Given the description of an element on the screen output the (x, y) to click on. 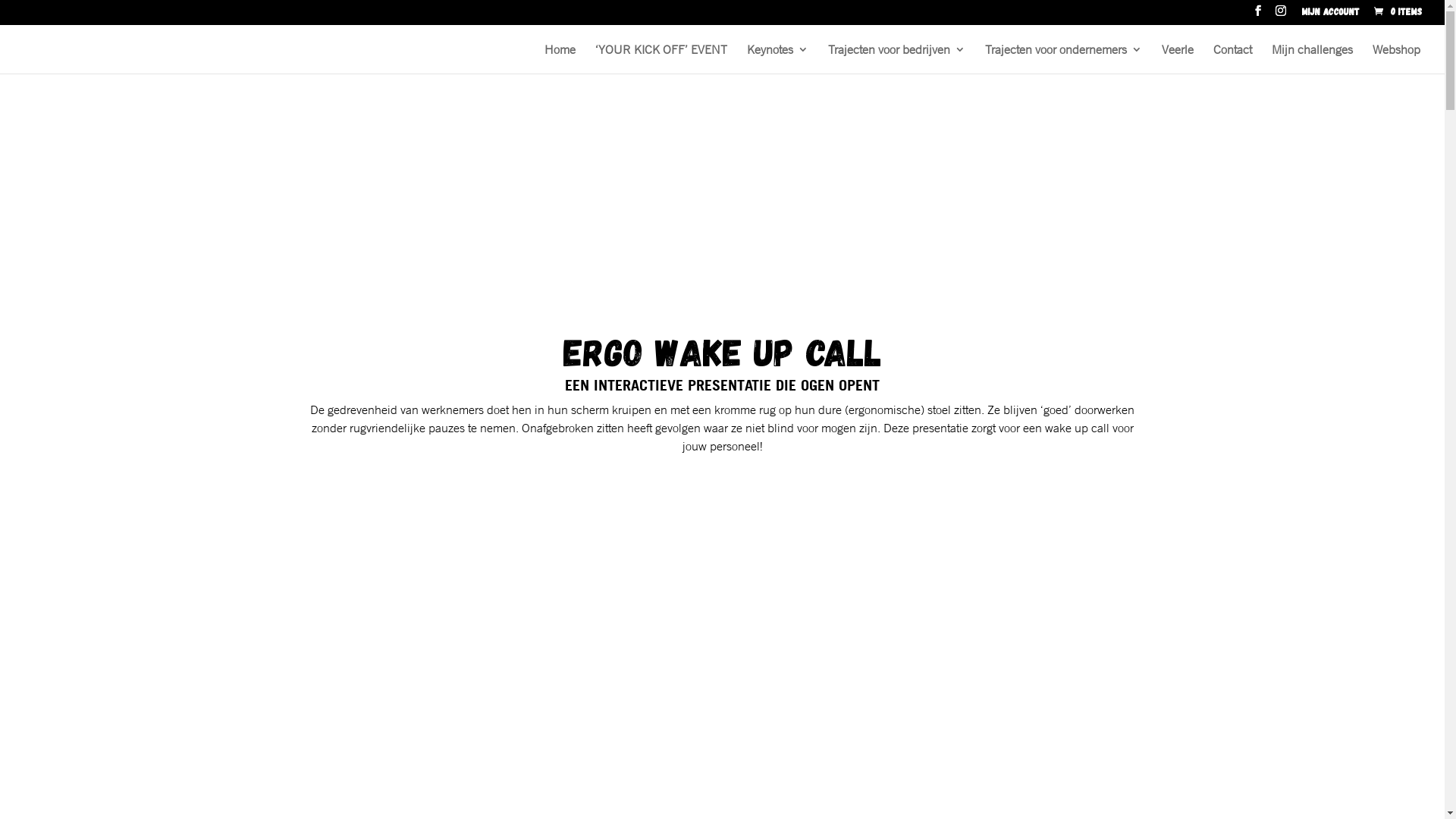
Home Element type: text (559, 58)
Trajecten voor ondernemers Element type: text (1063, 58)
Trajecten voor bedrijven Element type: text (896, 58)
Veerle Element type: text (1177, 58)
Contact Element type: text (1232, 58)
Mijn challenges Element type: text (1311, 58)
Webshop Element type: text (1396, 58)
Keynotes Element type: text (777, 58)
0 Items Element type: text (1396, 11)
Mijn account Element type: text (1330, 14)
